Given the description of an element on the screen output the (x, y) to click on. 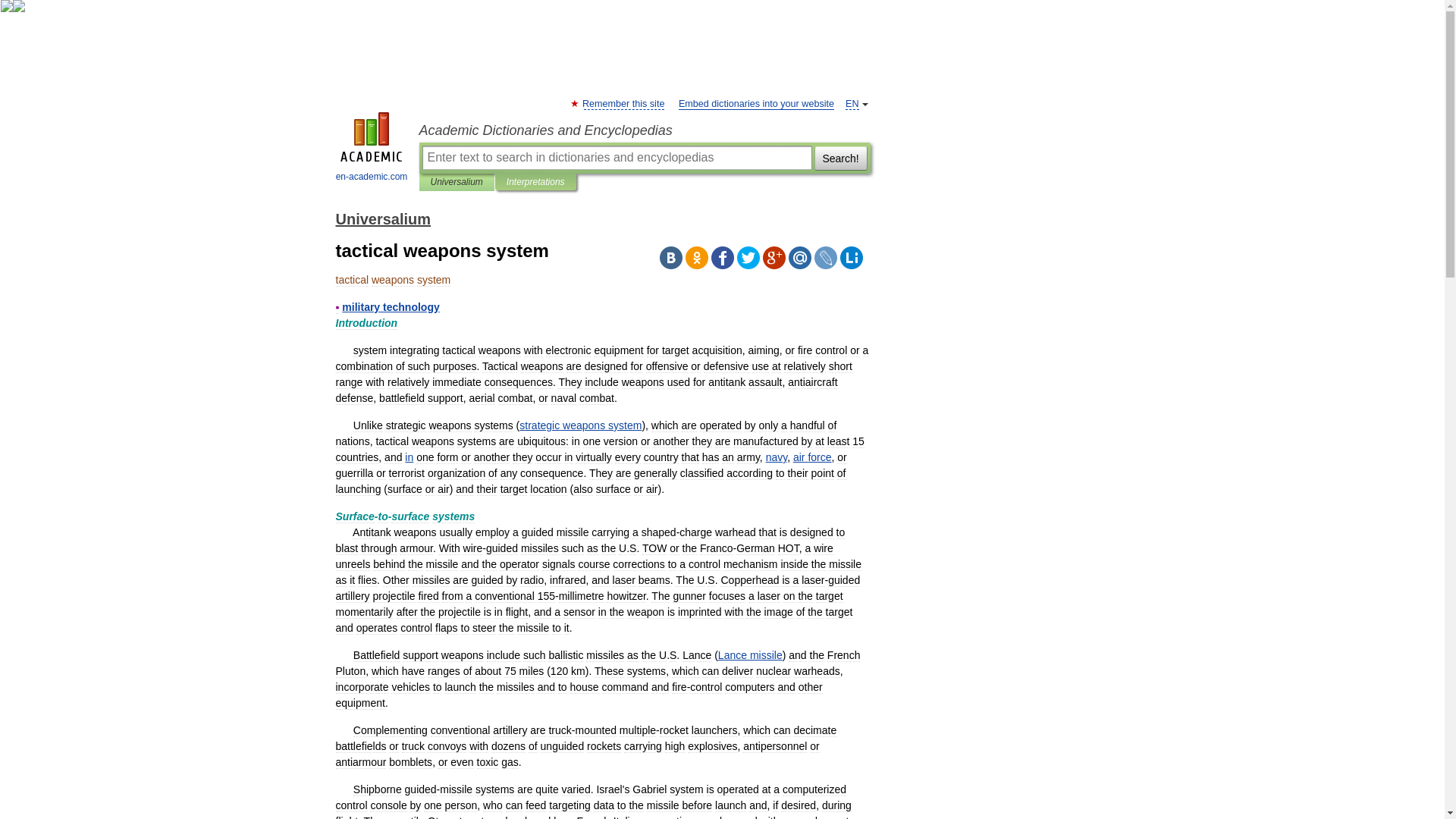
air force (812, 457)
Remember this site (623, 103)
strategic weapons system (580, 425)
en-academic.com (371, 148)
Embed dictionaries into your website (756, 103)
Interpretations (535, 181)
Search! (840, 157)
military technology (390, 306)
EN (852, 103)
Academic Dictionaries and Encyclopedias (644, 130)
